Given the description of an element on the screen output the (x, y) to click on. 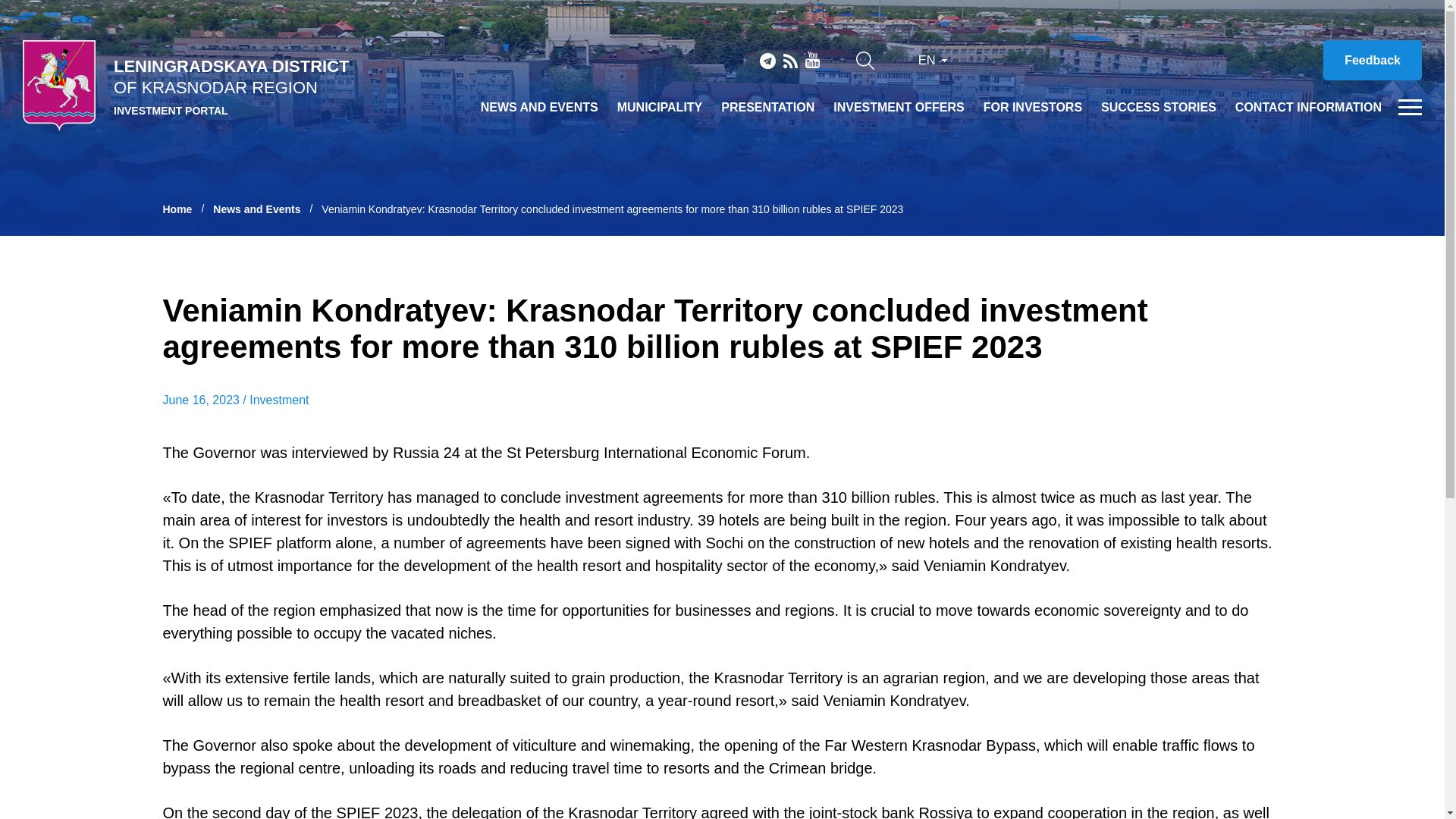
NEWS AND EVENTS (539, 107)
PRESENTATION (766, 107)
Home (186, 209)
News and Events (266, 209)
FOR INVESTORS (1032, 107)
CONTACT INFORMATION (1307, 107)
INVESTMENT OFFERS (897, 107)
SUCCESS STORIES (1157, 107)
MUNICIPALITY (660, 107)
